Given the description of an element on the screen output the (x, y) to click on. 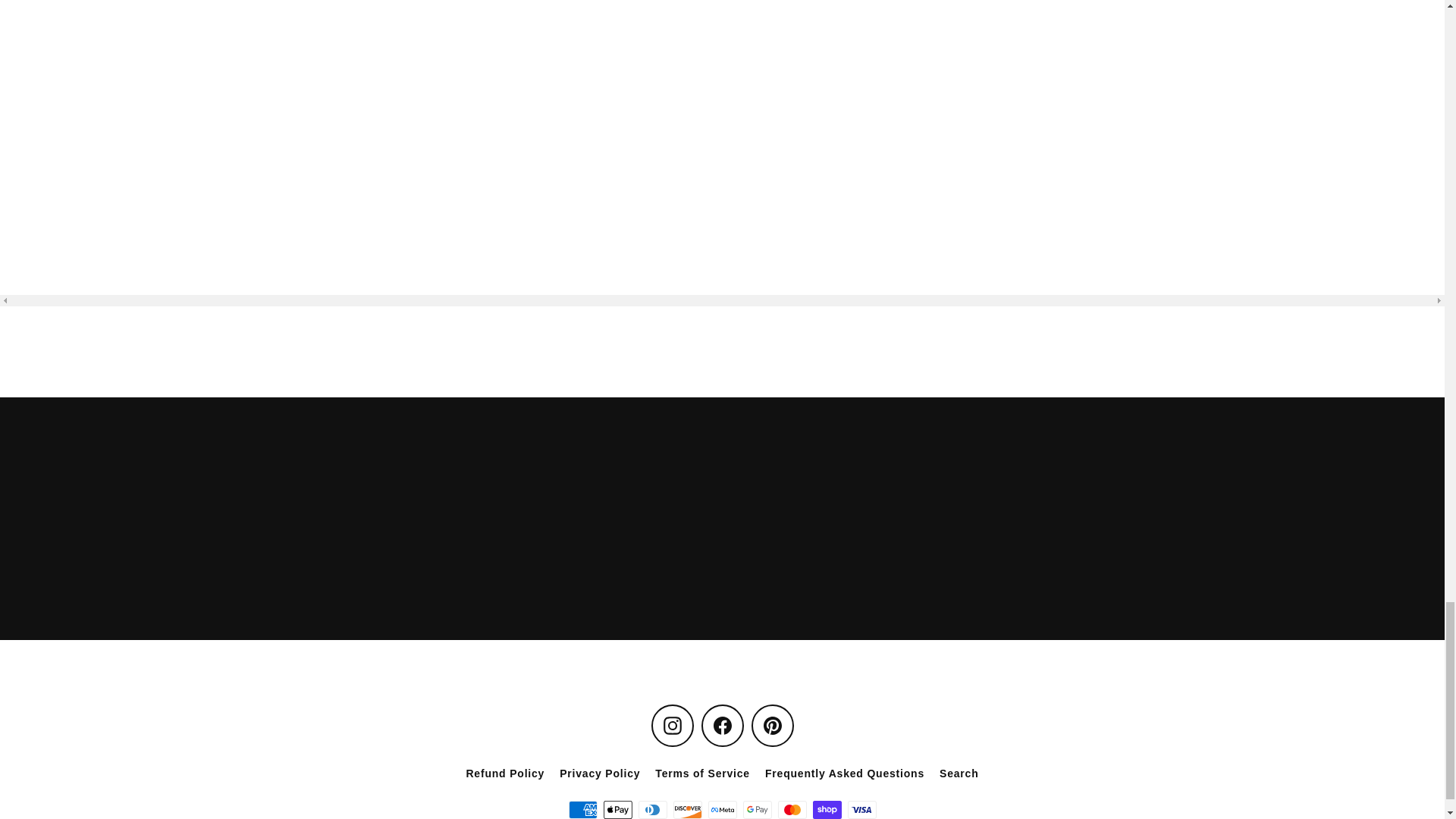
American Express (582, 809)
Google Pay (756, 809)
Aquatic Arts on Pinterest (772, 725)
Apple Pay (617, 809)
Mastercard (791, 809)
Shop Pay (826, 809)
Discover (686, 809)
Diners Club (652, 809)
Aquatic Arts on Instagram (671, 725)
Meta Pay (721, 809)
